Given the description of an element on the screen output the (x, y) to click on. 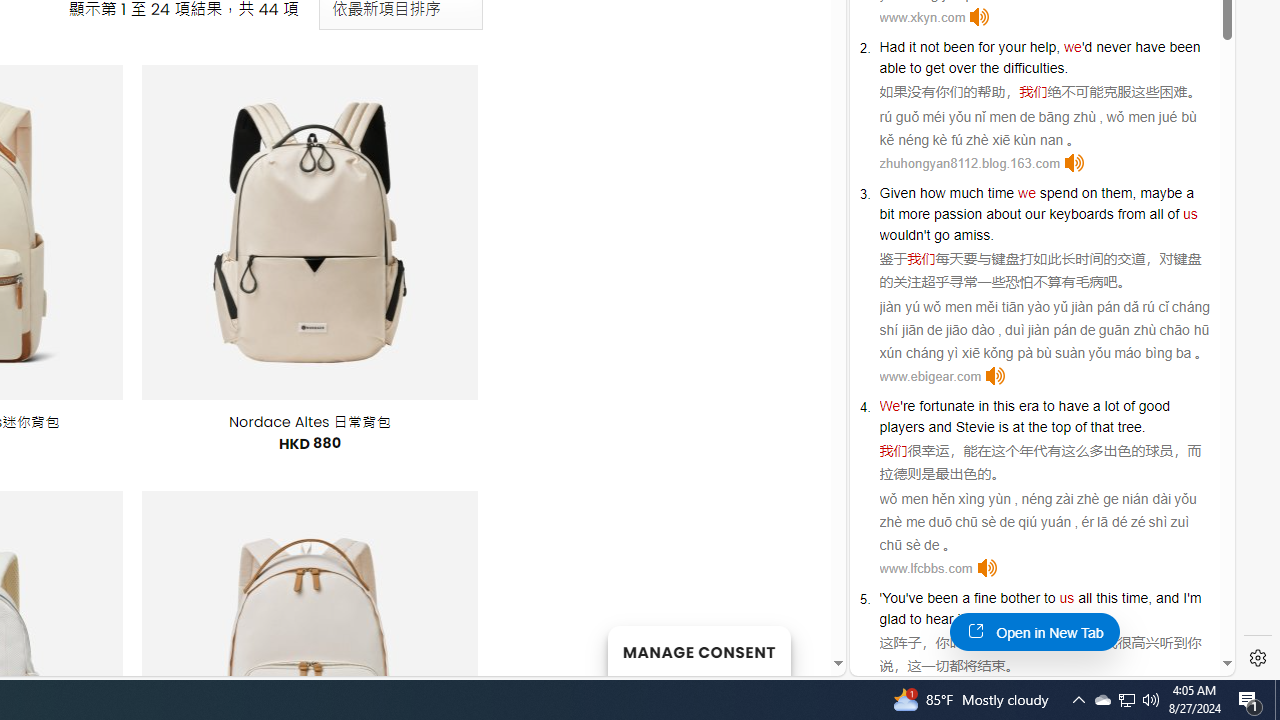
MANAGE CONSENT (698, 650)
www.ebigear.com (930, 375)
